Given the description of an element on the screen output the (x, y) to click on. 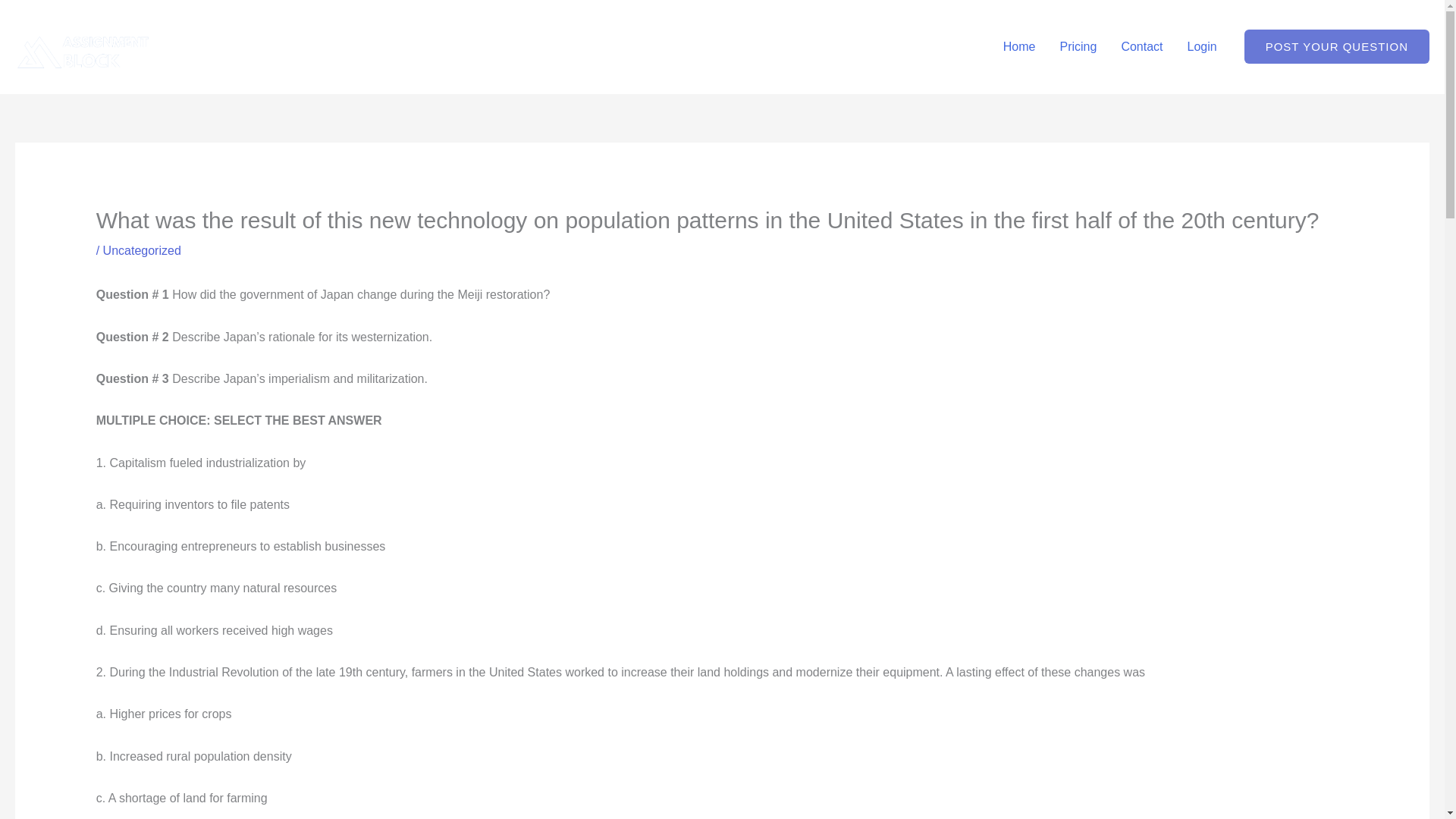
Login (1201, 46)
Pricing (1077, 46)
Contact (1141, 46)
Home (1019, 46)
Uncategorized (141, 250)
POST YOUR QUESTION (1336, 46)
